Given the description of an element on the screen output the (x, y) to click on. 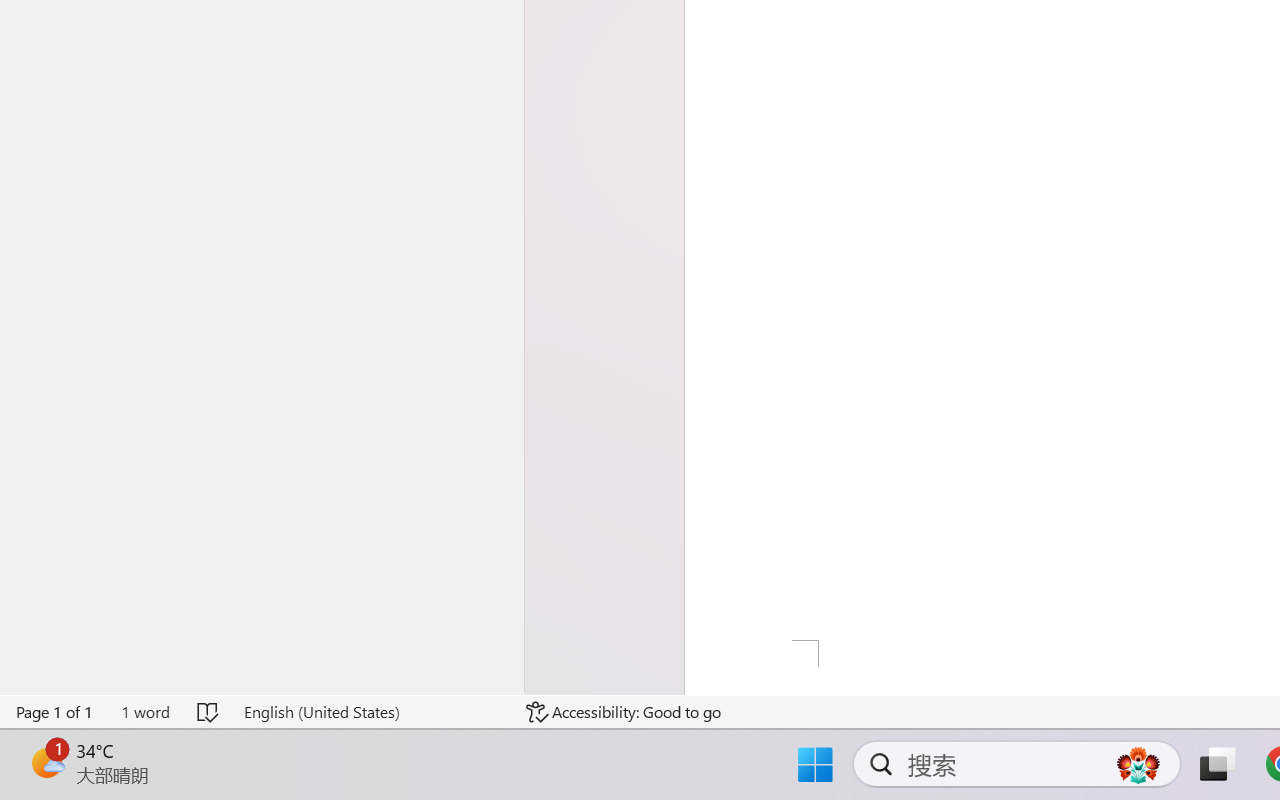
Word Count 1 word (145, 712)
Language English (United States) (370, 712)
Spelling and Grammar Check No Errors (208, 712)
Accessibility Checker Accessibility: Good to go (623, 712)
AutomationID: DynamicSearchBoxGleamImage (1138, 764)
AutomationID: BadgeAnchorLargeTicker (46, 762)
Page Number Page 1 of 1 (55, 712)
